Given the description of an element on the screen output the (x, y) to click on. 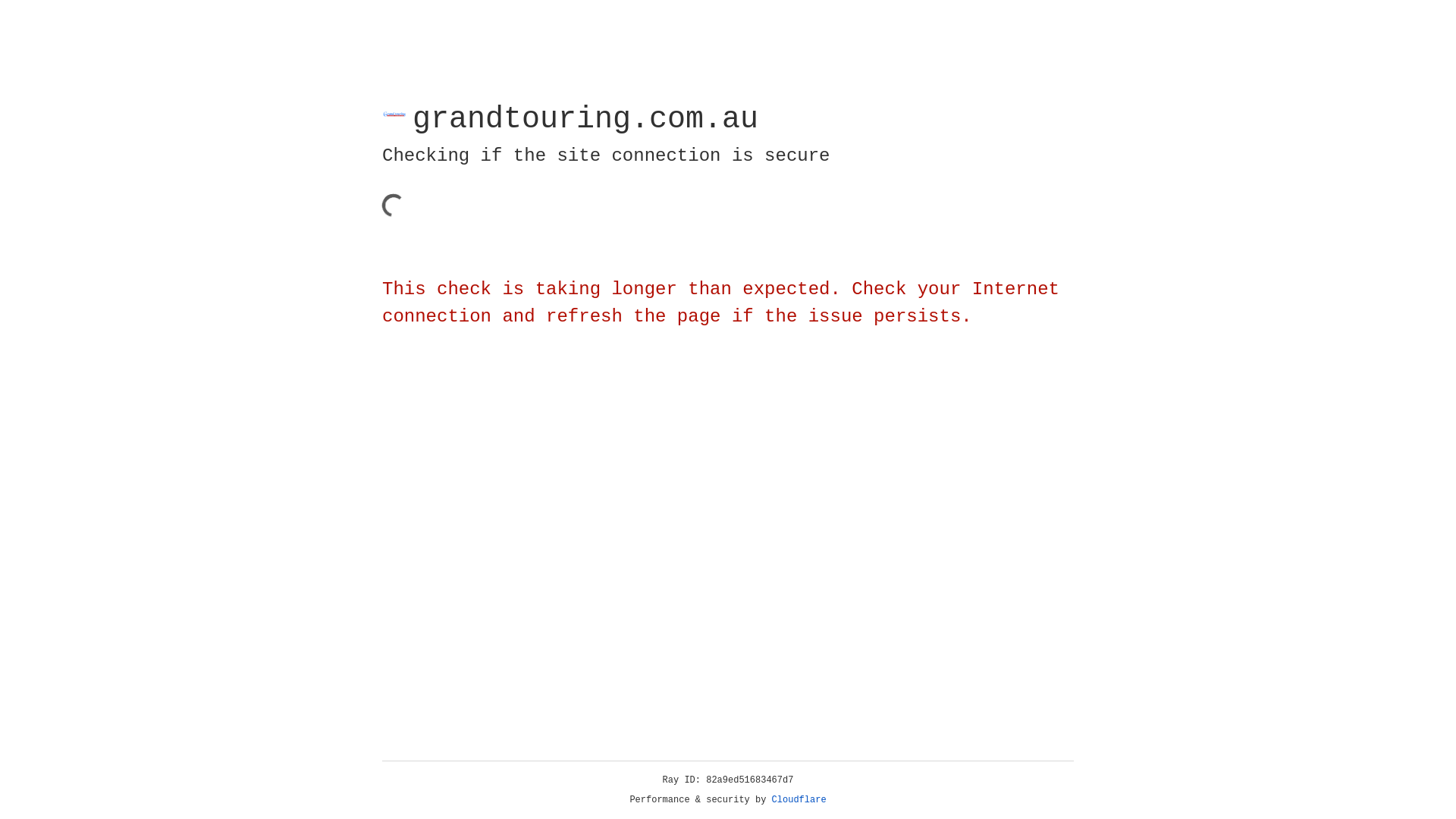
Cloudflare Element type: text (798, 799)
